Given the description of an element on the screen output the (x, y) to click on. 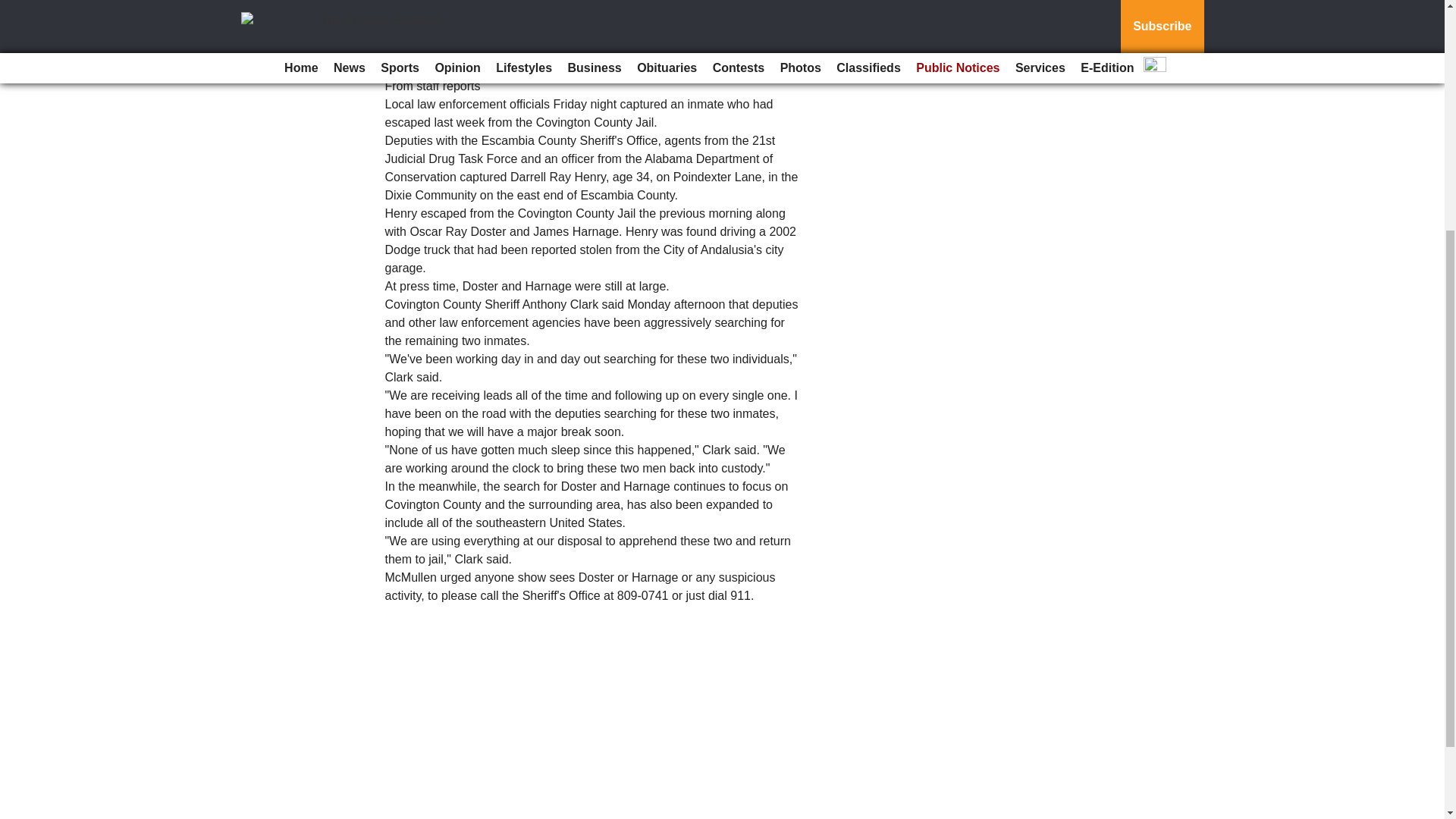
Staff Reports (394, 40)
